Given the description of an element on the screen output the (x, y) to click on. 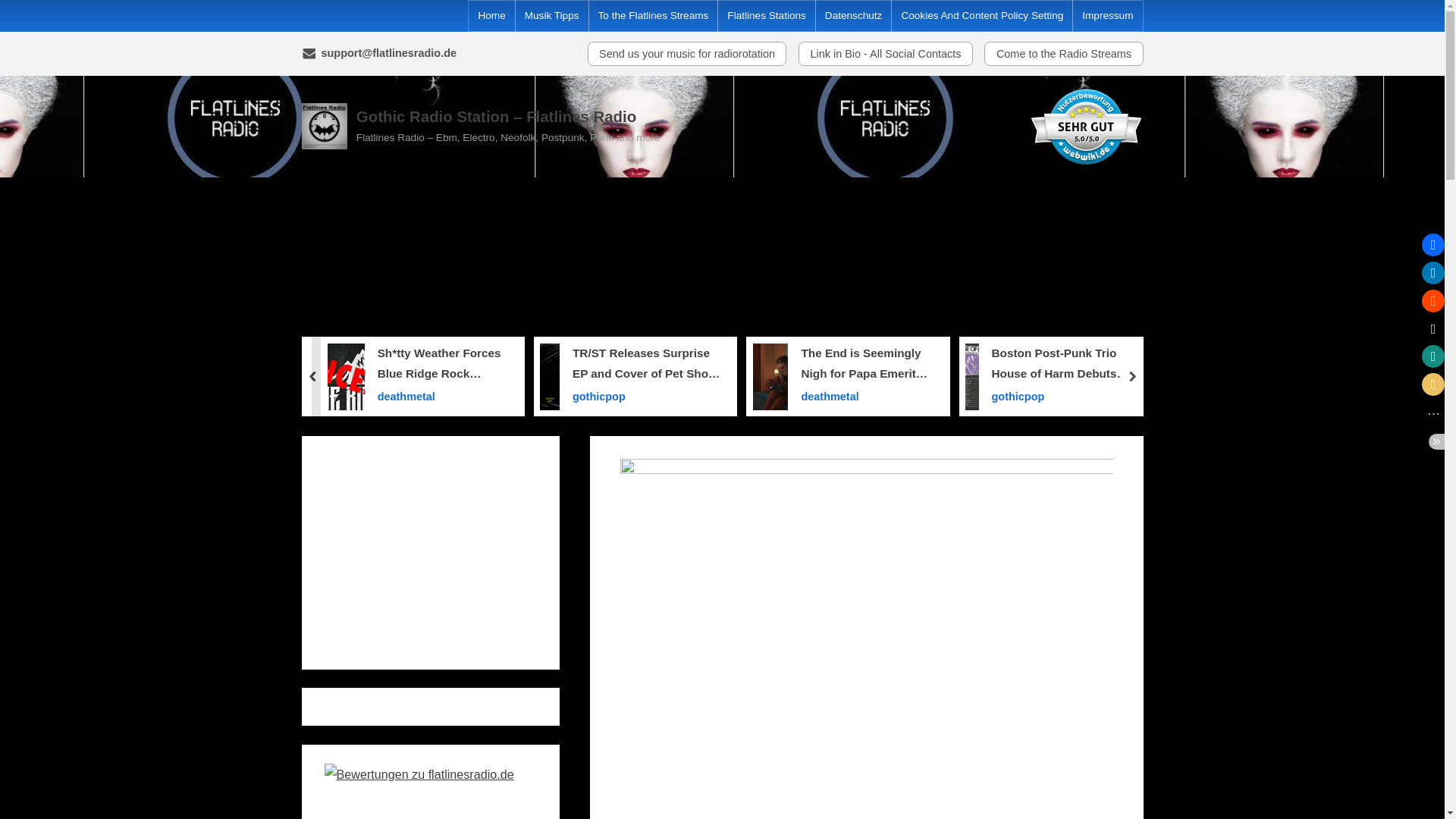
Datenschutz (853, 15)
Flatlines Stations (766, 15)
To the Flatlines Streams (651, 15)
Home (491, 15)
Bewertungen und Erfahrungen zu flatlinesradio.de (418, 774)
deathmetal (866, 396)
gothicpop (1068, 396)
Impressum (1106, 15)
Send us your music for radiorotation (687, 53)
Link in Bio - All Social Contacts (884, 53)
deathmetal (442, 396)
Cookies And Content Policy Setting (981, 15)
Musik Tipps (551, 15)
gothicpop (646, 396)
Come to the Radio Streams (1063, 53)
